Given the description of an element on the screen output the (x, y) to click on. 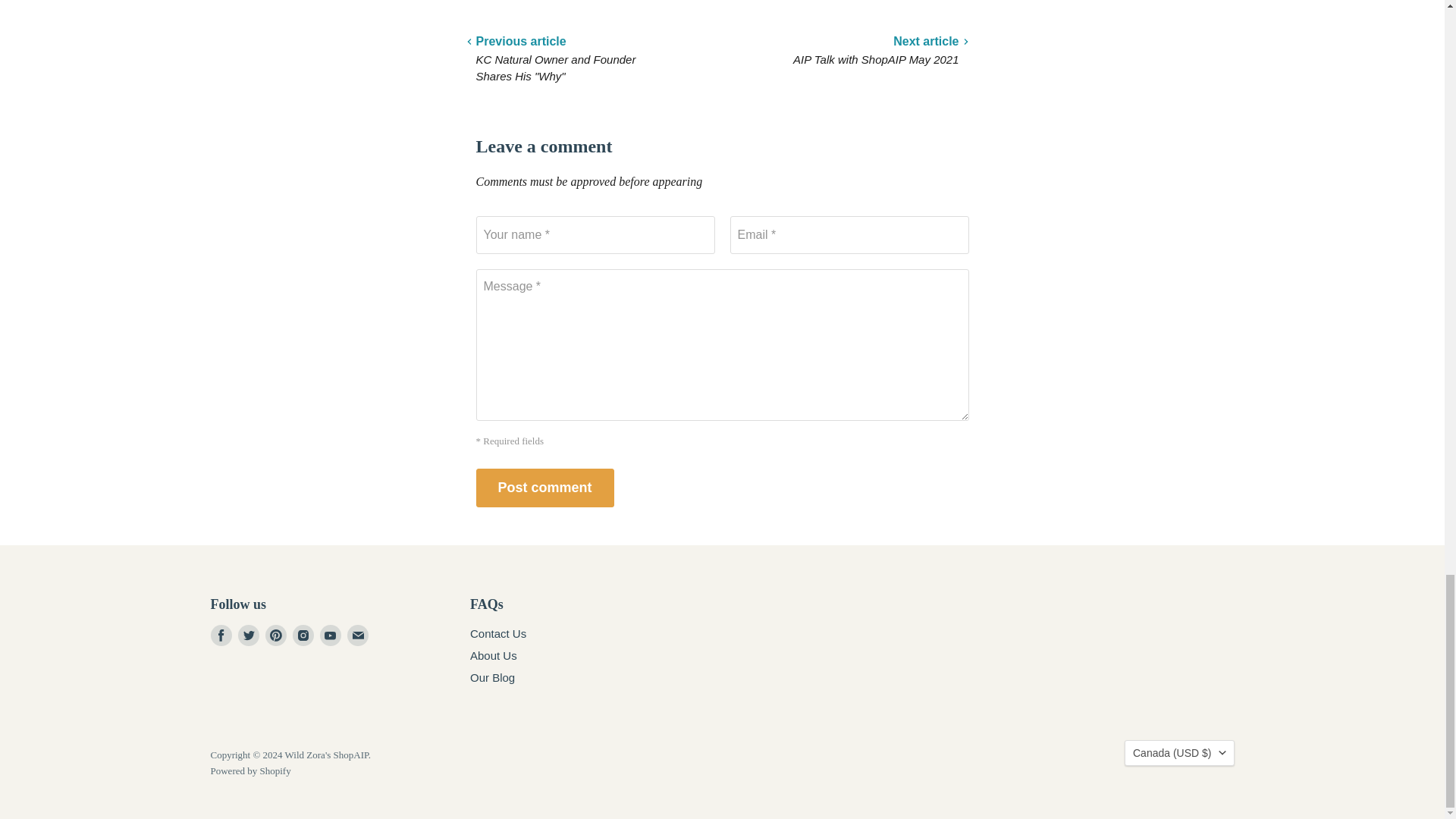
Instagram (303, 635)
Twitter (248, 635)
Facebook (221, 635)
Youtube (330, 635)
Pinterest (275, 635)
Email (357, 635)
